Given the description of an element on the screen output the (x, y) to click on. 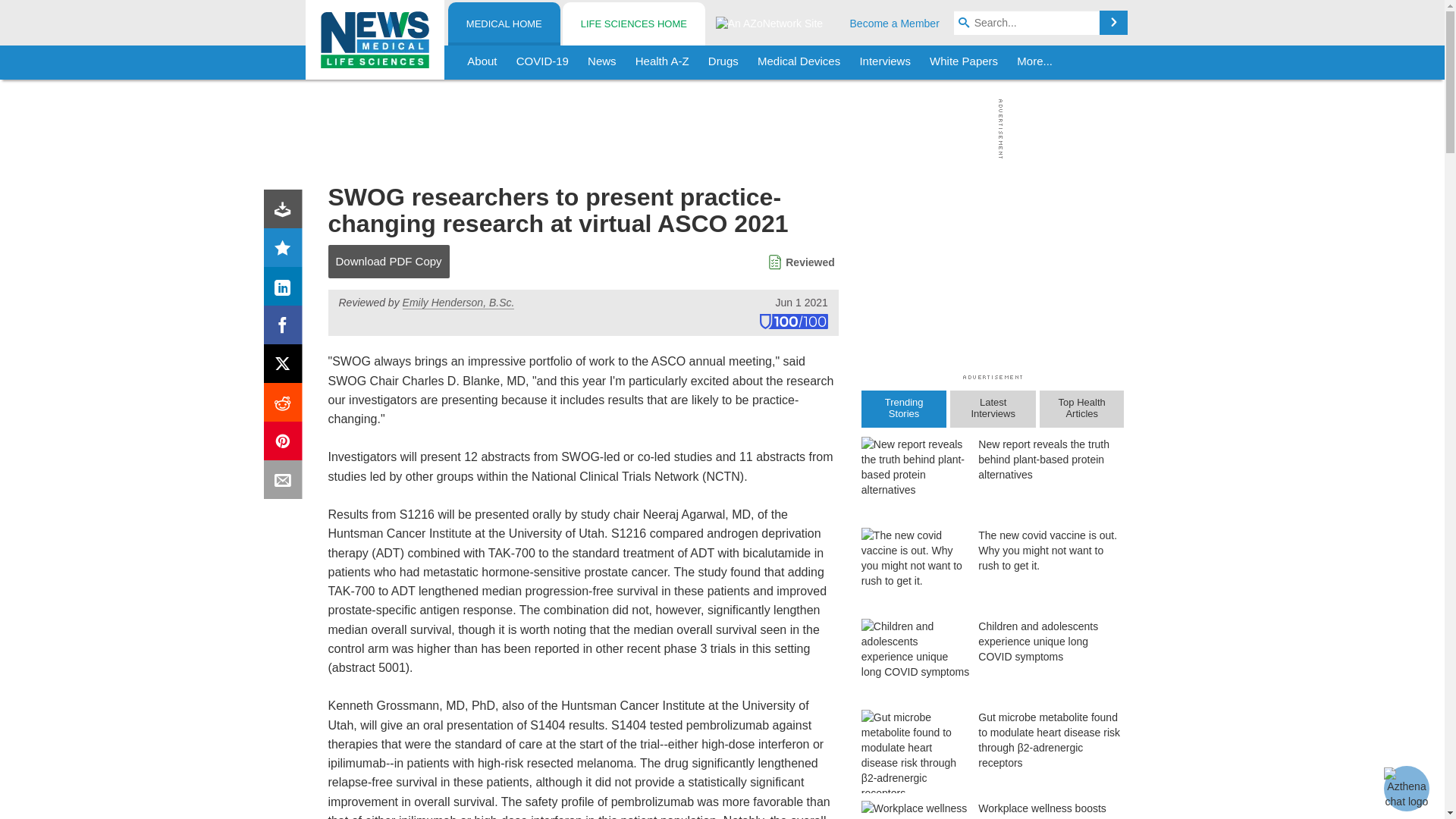
Drugs (722, 62)
Search (1112, 22)
News (601, 62)
Rating (285, 250)
Medical Devices (798, 62)
Email (285, 483)
X (285, 366)
About (482, 62)
Pinterest (285, 443)
Reddit (285, 405)
